Given the description of an element on the screen output the (x, y) to click on. 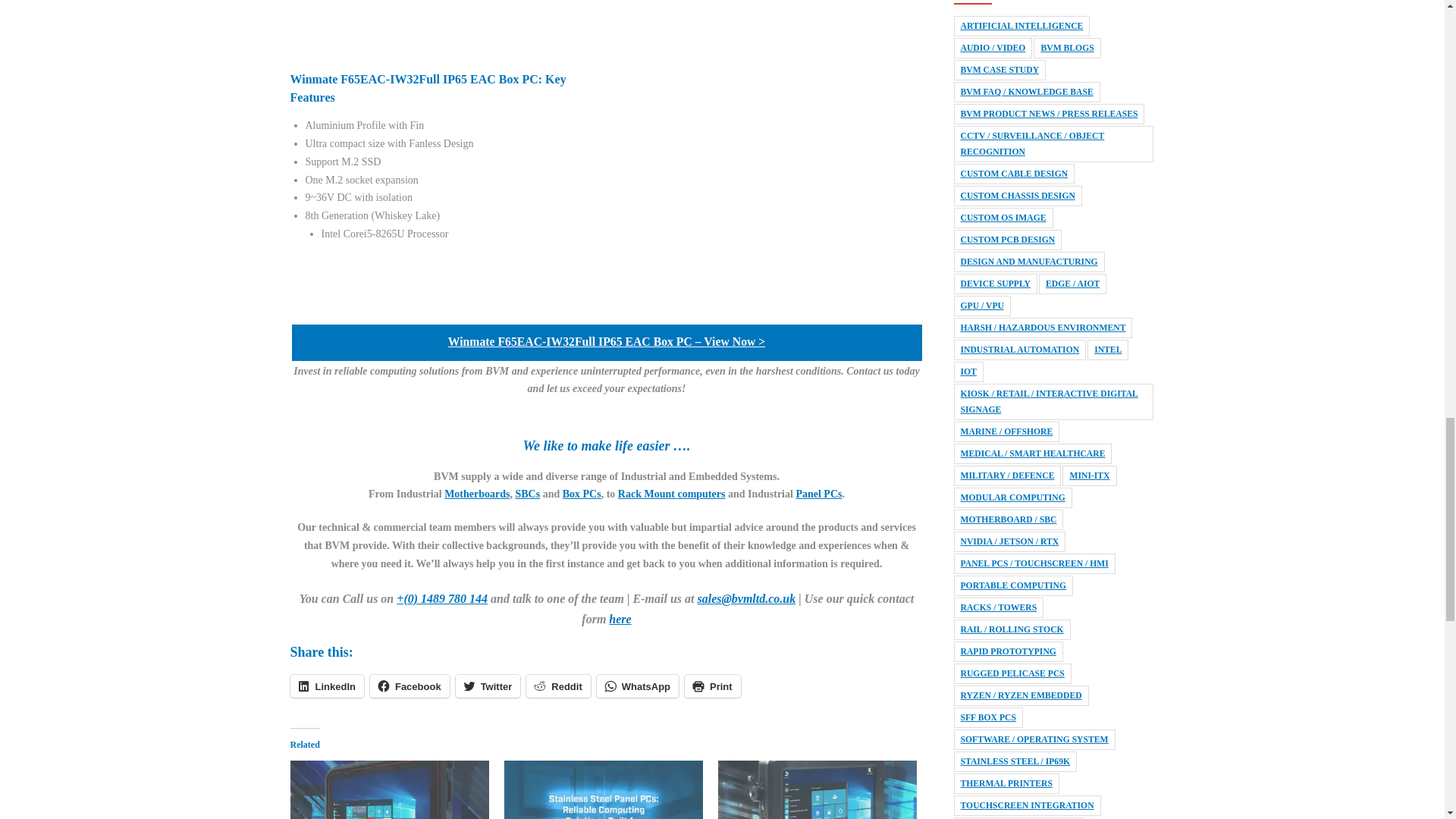
Click to share on Facebook (409, 685)
Click to share on LinkedIn (325, 685)
Click to share on WhatsApp (637, 685)
Click to print (712, 685)
Click to share on Twitter (488, 685)
Click to share on Reddit (557, 685)
